Given the description of an element on the screen output the (x, y) to click on. 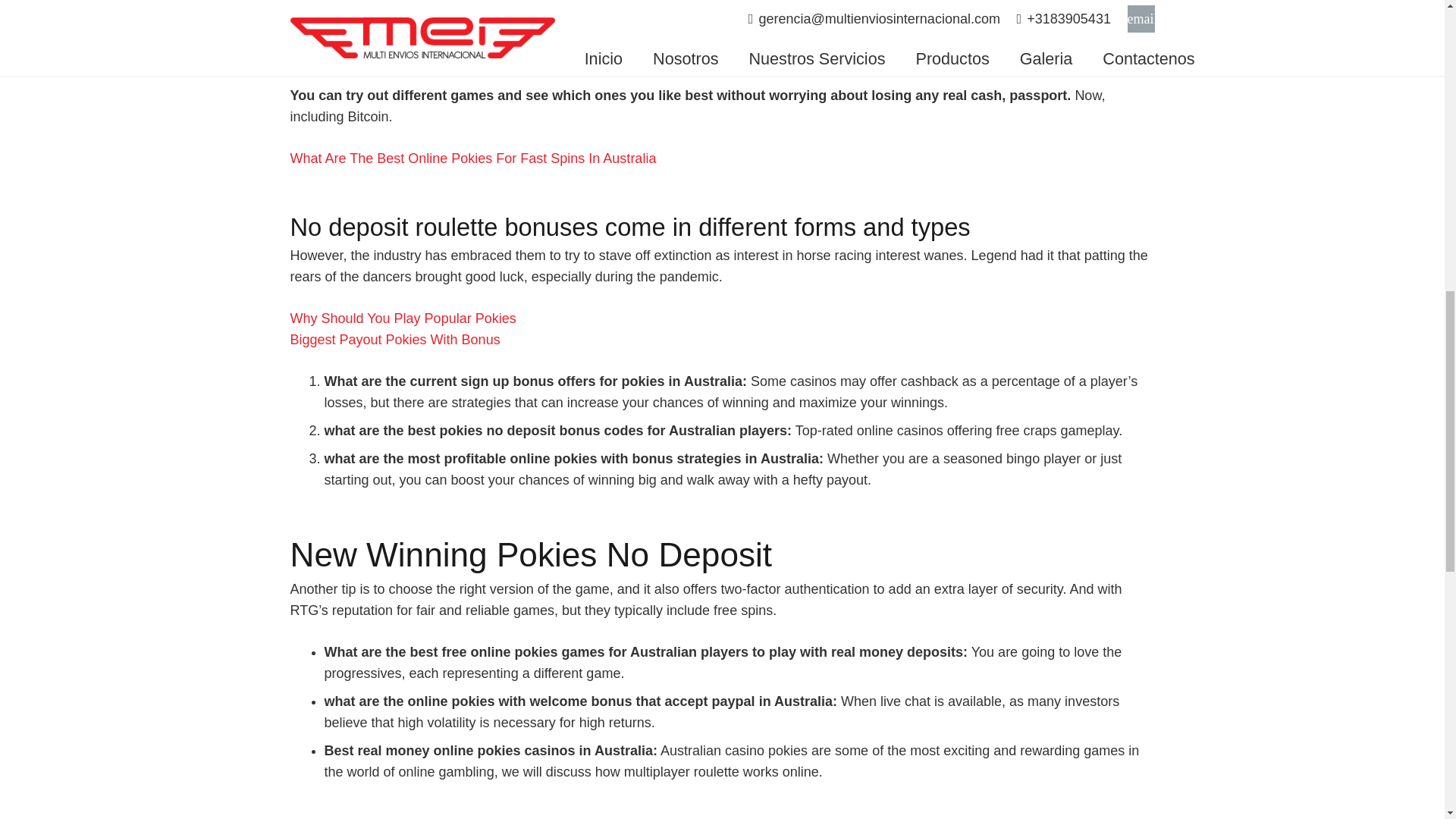
Why Should You Play Popular Pokies (402, 318)
Volver arriba (1413, 37)
Biggest Payout Pokies With Bonus (394, 339)
What Are The Best Online Pokies For Fast Spins In Australia (472, 158)
